Given the description of an element on the screen output the (x, y) to click on. 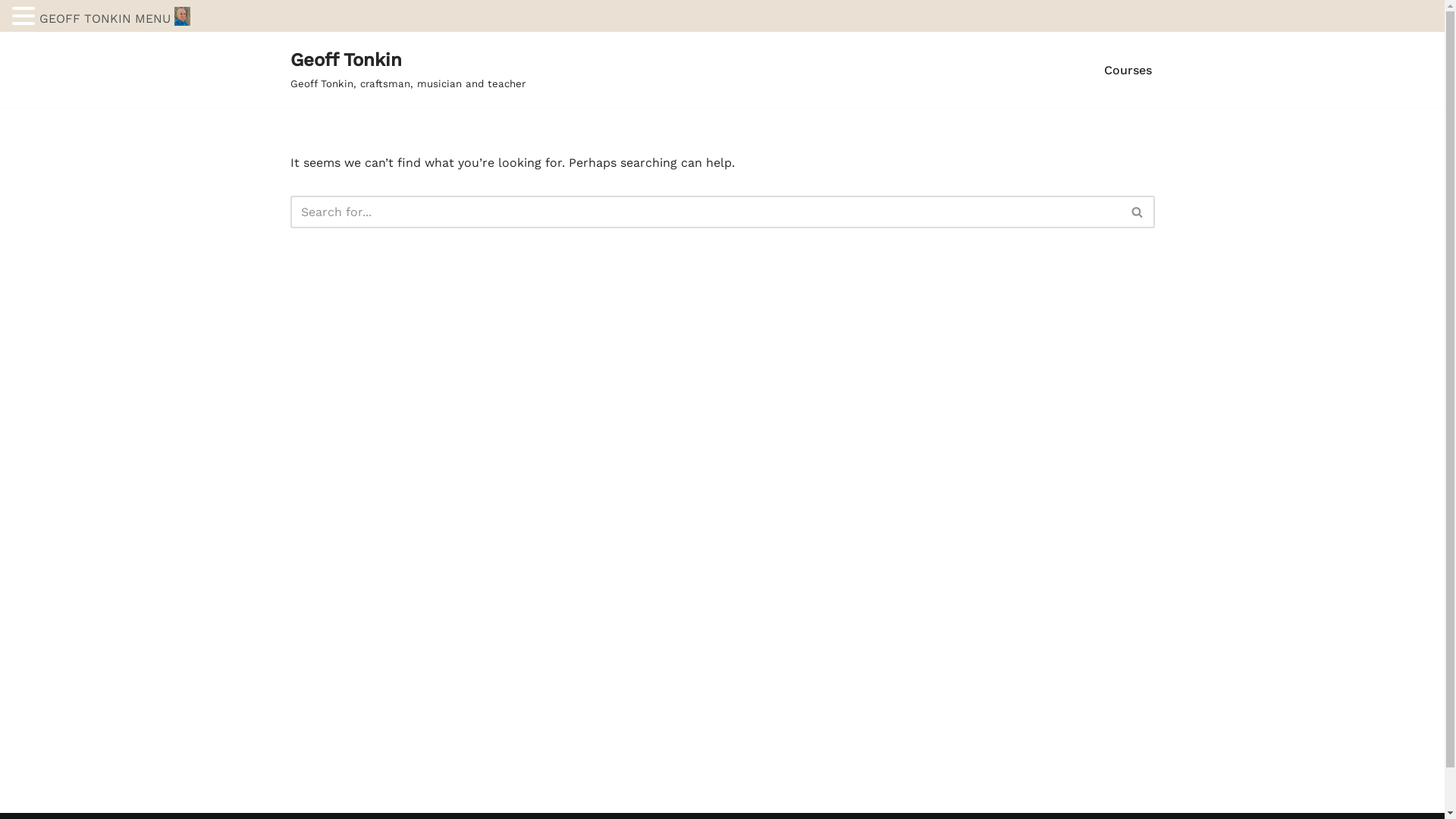
Skip to content Element type: text (11, 63)
Geoff Tonkin
Geoff Tonkin, craftsman, musician and teacher Element type: text (406, 69)
Courses Element type: text (1127, 69)
